Given the description of an element on the screen output the (x, y) to click on. 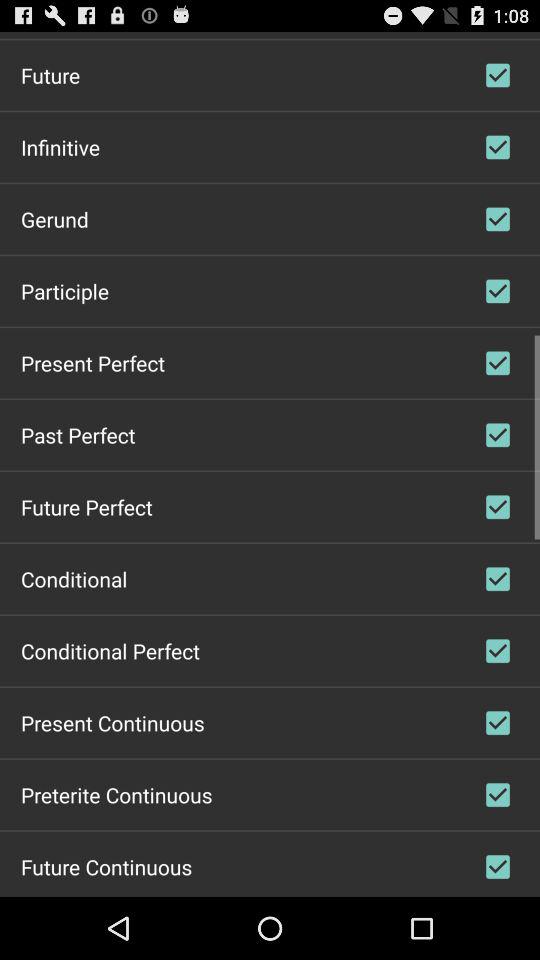
launch app below gerund icon (65, 290)
